Given the description of an element on the screen output the (x, y) to click on. 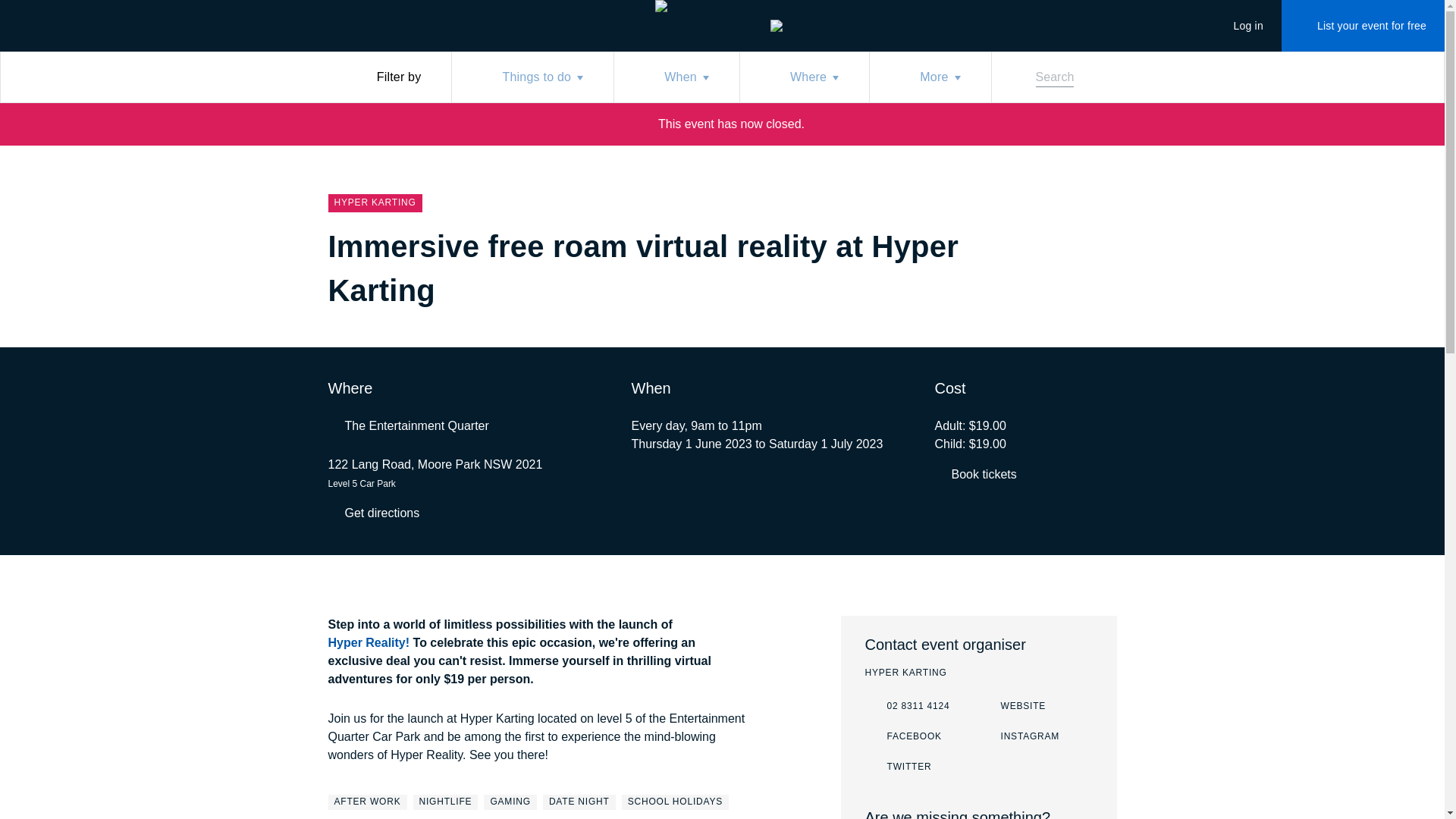
Get directions (902, 737)
Log in (373, 513)
NIGHTLIFE (1239, 25)
Gaming (1239, 25)
SCHOOL HOLIDAYS (446, 801)
Hyper Reality! (509, 801)
